Given the description of an element on the screen output the (x, y) to click on. 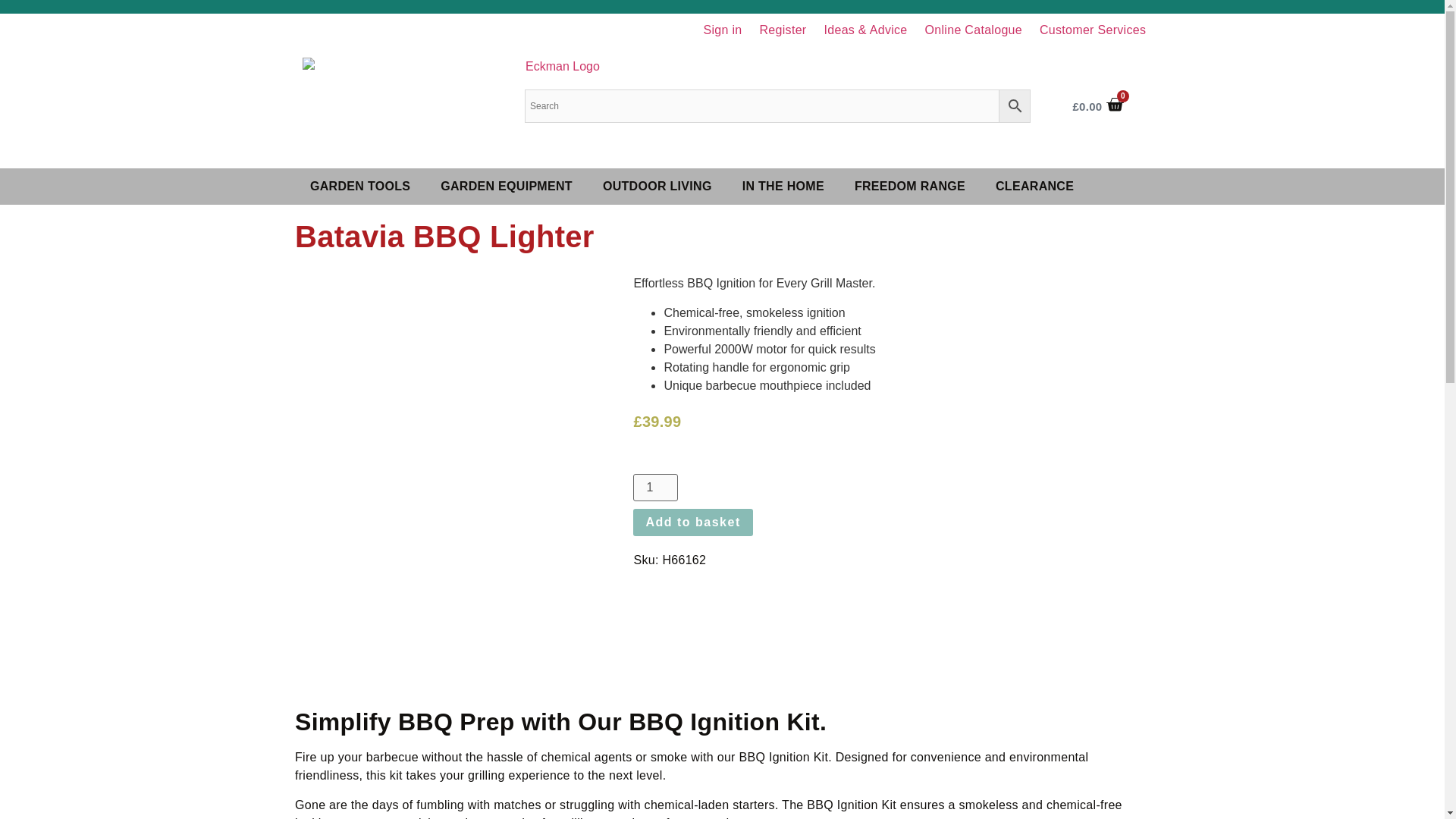
Online Catalogue (973, 29)
OUTDOOR LIVING (657, 185)
Customer Services  (1094, 29)
Register (783, 29)
GARDEN EQUIPMENT (506, 185)
GARDEN TOOLS (360, 185)
1 (655, 487)
IN THE HOME (783, 185)
Sign in (722, 29)
